Given the description of an element on the screen output the (x, y) to click on. 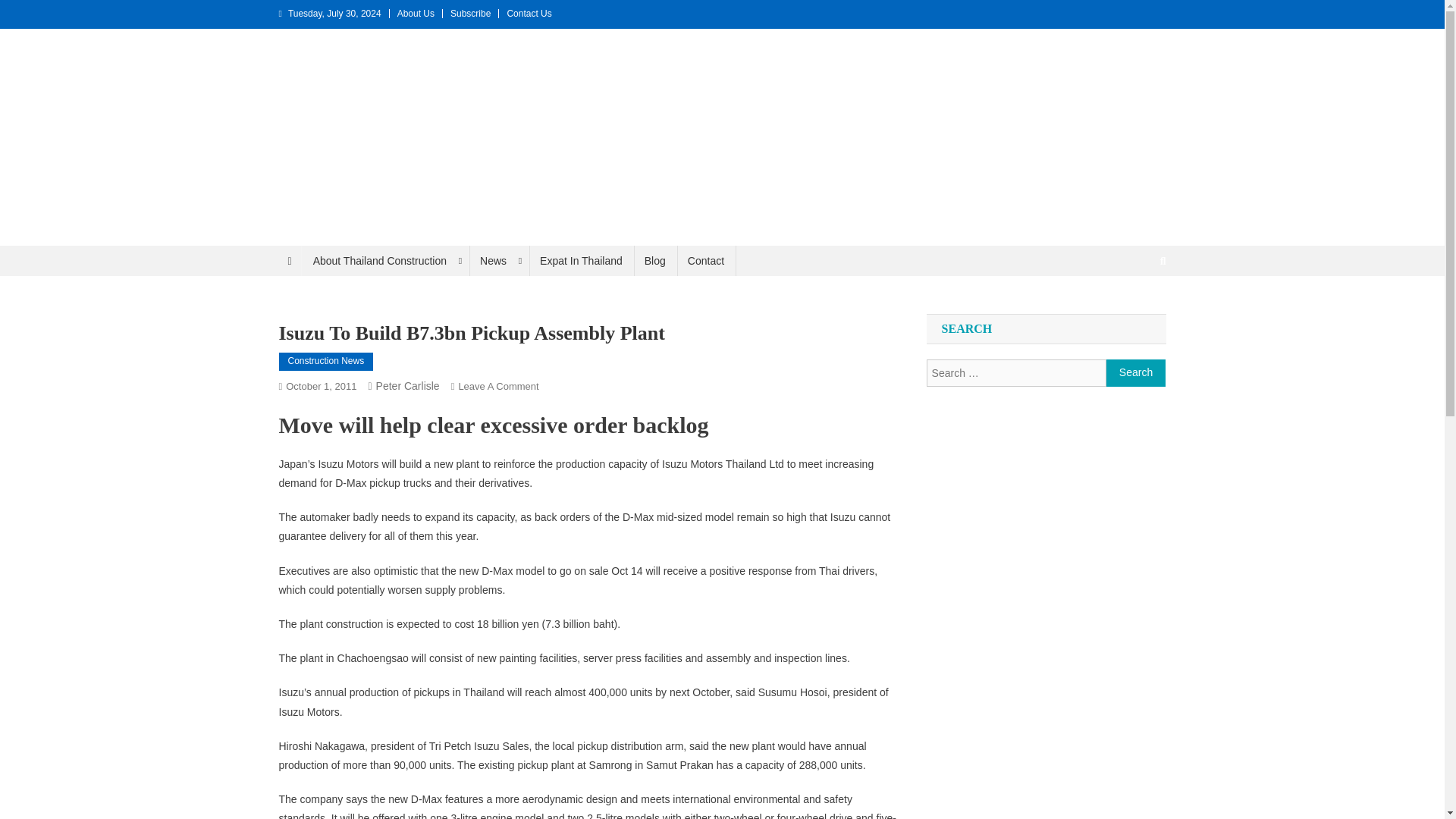
Blog (654, 260)
Contact (705, 260)
Construction News (326, 361)
Subscribe (469, 13)
About Us (415, 13)
Expat In Thailand (580, 260)
About Thailand Construction (385, 260)
Contact Us (528, 13)
Search (1136, 372)
Search (1136, 372)
Peter Carlisle (407, 386)
Thailand Construction and Engineering News (262, 260)
Search (1133, 311)
October 1, 2011 (320, 386)
